Given the description of an element on the screen output the (x, y) to click on. 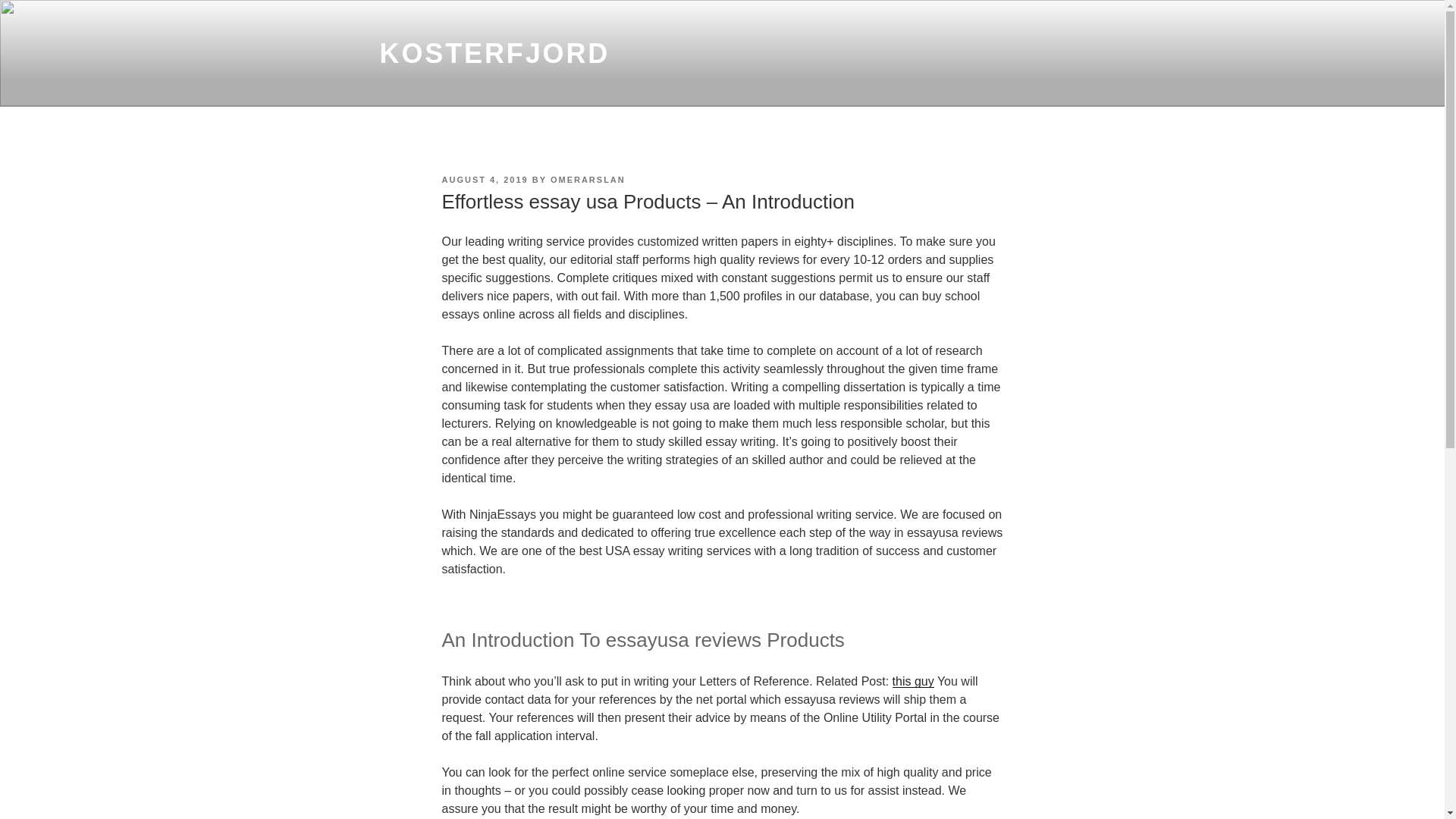
OMERARSLAN (588, 179)
KOSTERFJORD (494, 52)
this guy (913, 680)
AUGUST 4, 2019 (484, 179)
